Given the description of an element on the screen output the (x, y) to click on. 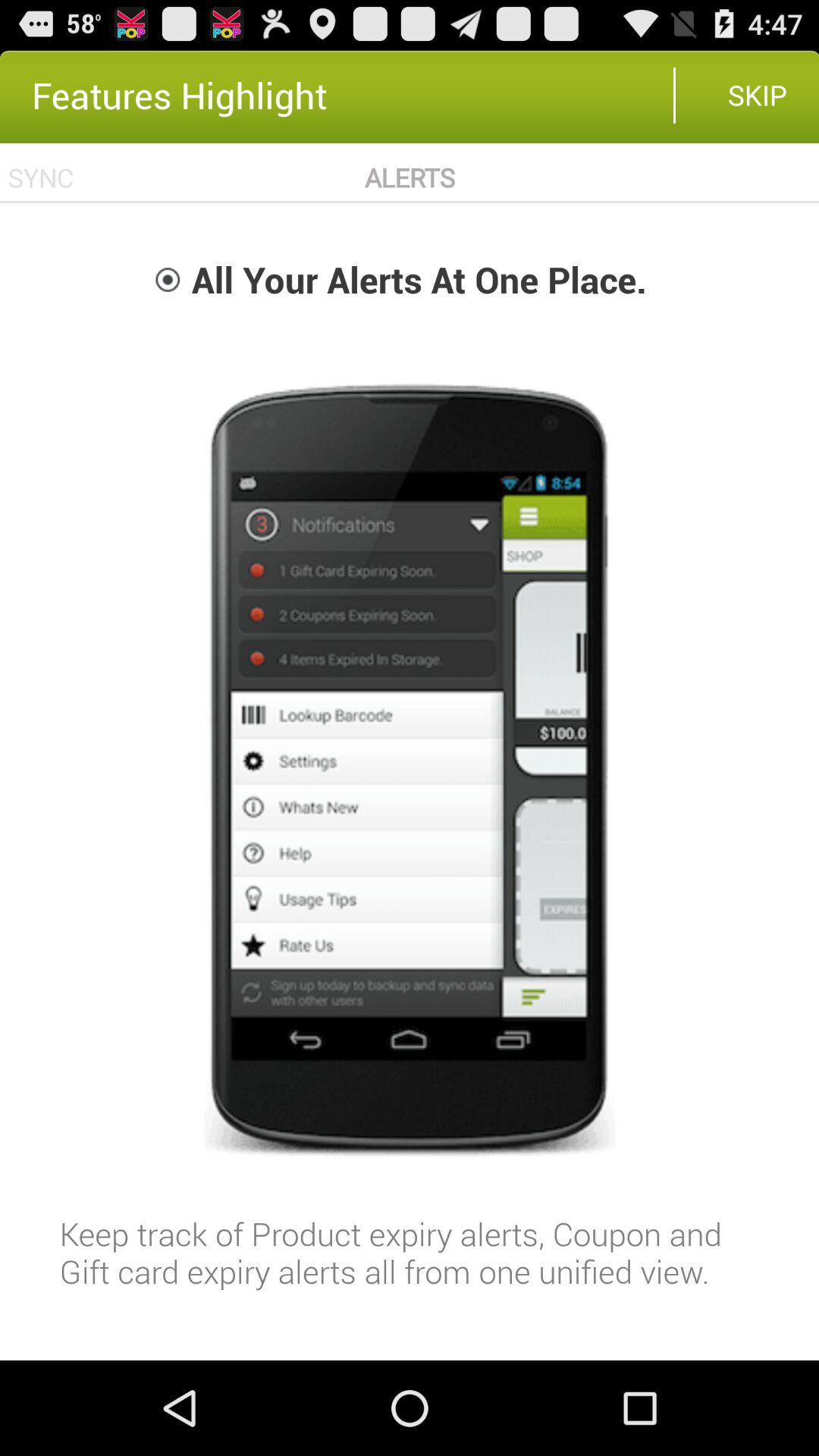
tap the skip (757, 95)
